Given the description of an element on the screen output the (x, y) to click on. 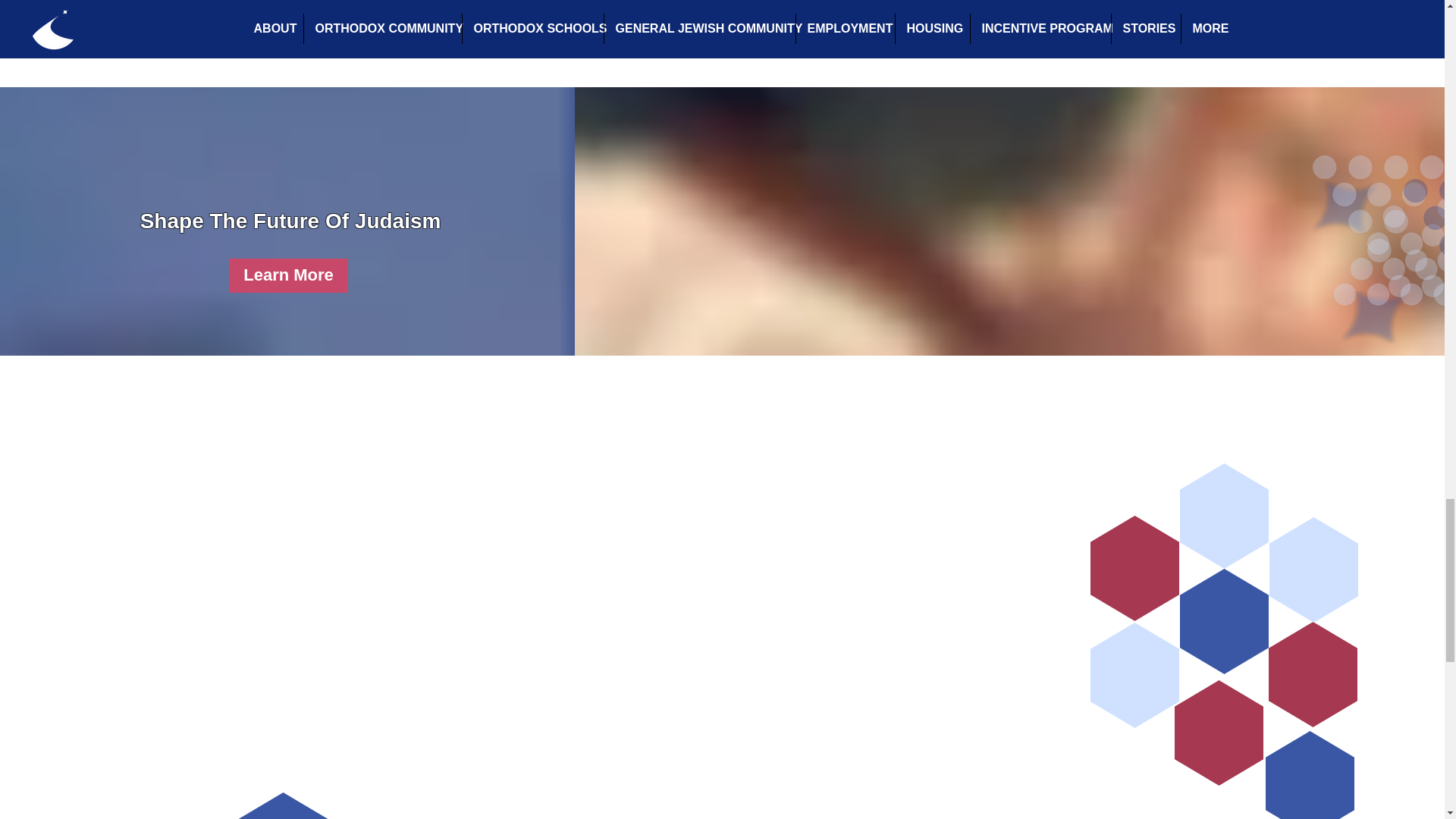
Learn More (287, 275)
